Given the description of an element on the screen output the (x, y) to click on. 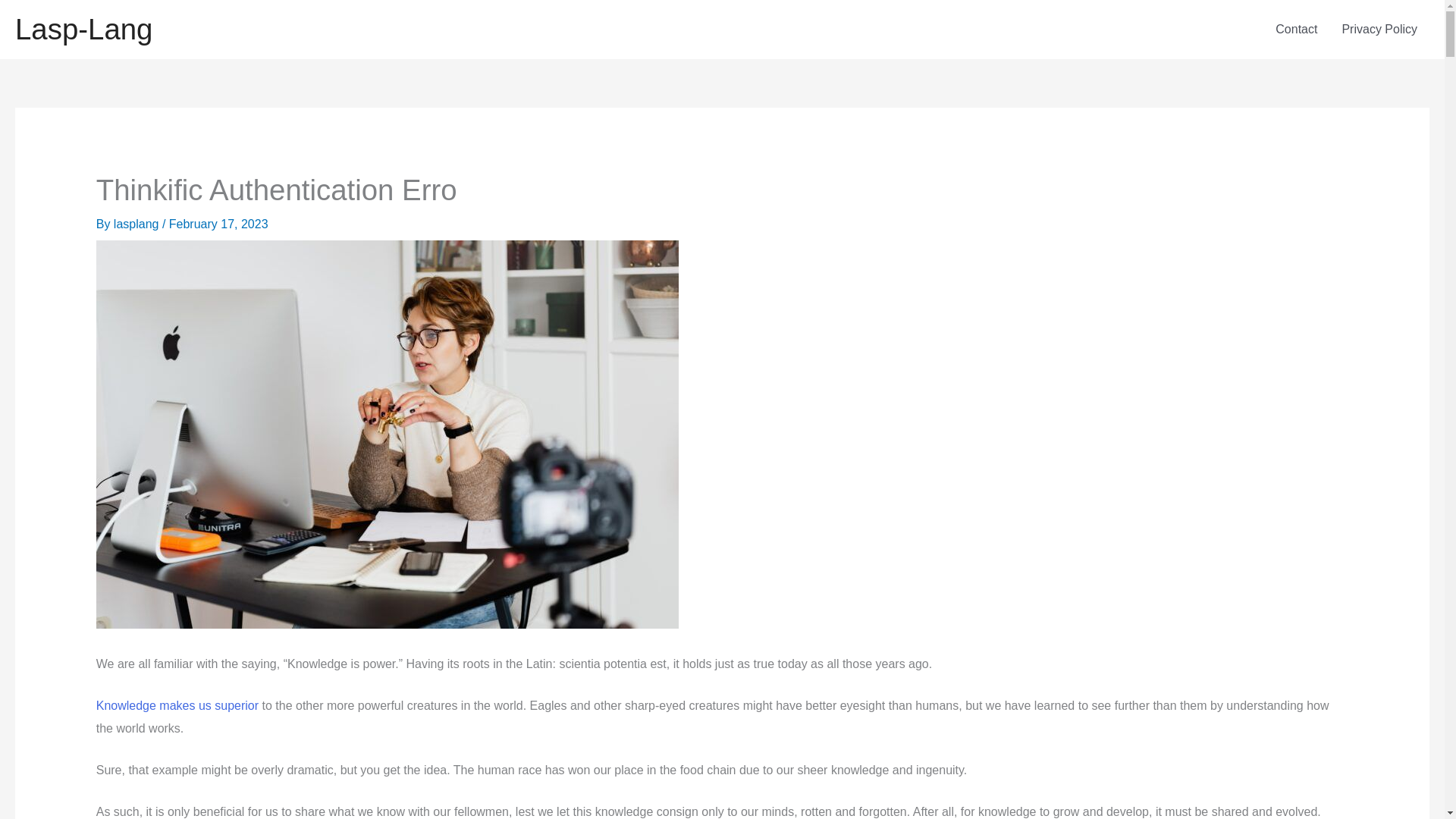
Privacy Policy (1379, 29)
Lasp-Lang (83, 29)
View all posts by lasplang (137, 223)
lasplang (137, 223)
Contact (1296, 29)
Knowledge makes us superior (177, 705)
